Given the description of an element on the screen output the (x, y) to click on. 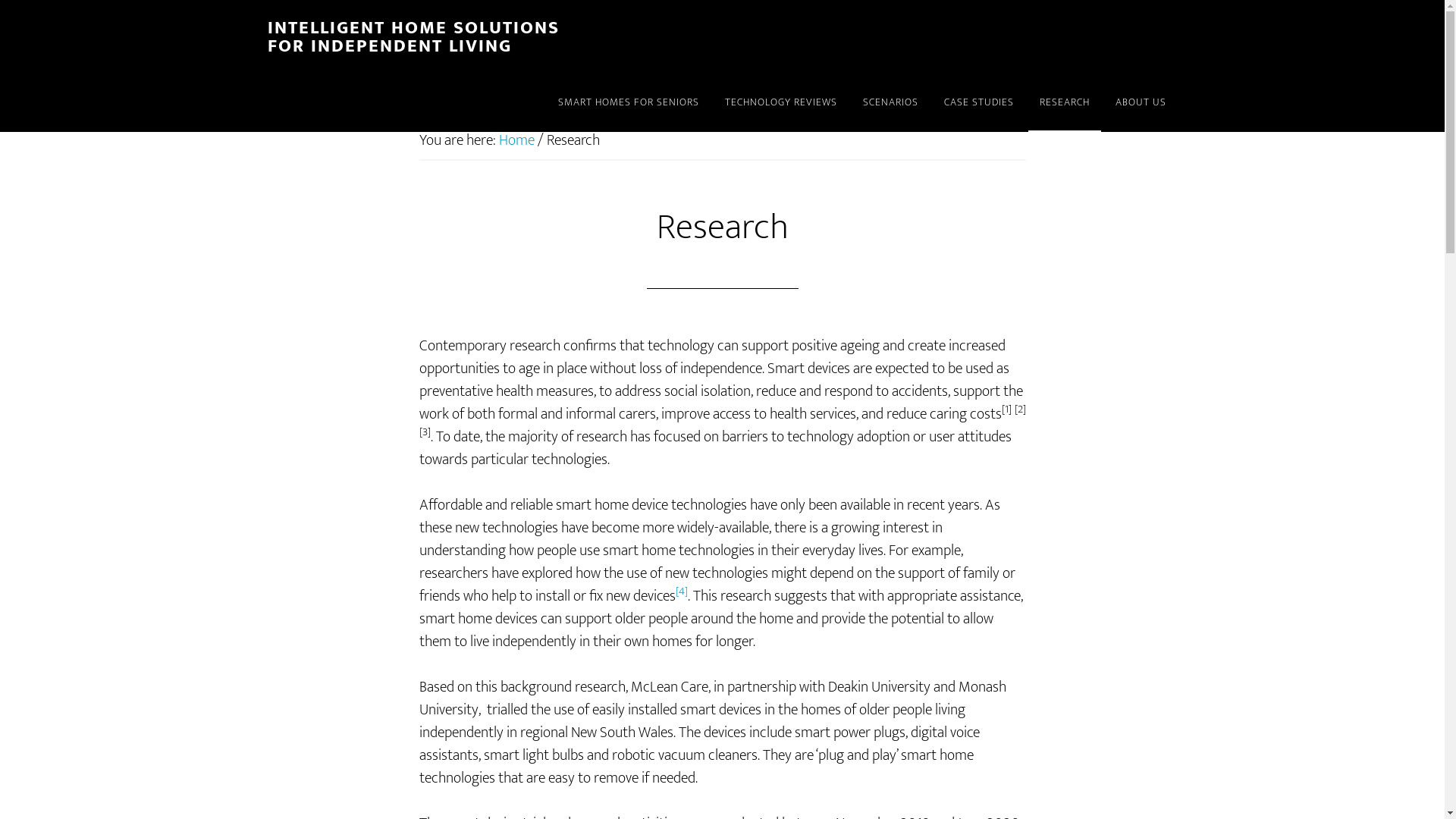
TECHNOLOGY REVIEWS Element type: text (779, 102)
ABOUT US Element type: text (1140, 102)
SMART HOMES FOR SENIORS Element type: text (627, 102)
RESEARCH Element type: text (1064, 102)
CASE STUDIES Element type: text (978, 102)
Home Element type: text (516, 140)
SCENARIOS Element type: text (889, 102)
INTELLIGENT HOME SOLUTIONS FOR INDEPENDENT LIVING Element type: text (412, 36)
Skip to main content Element type: text (0, 0)
[4] Element type: text (680, 595)
